Given the description of an element on the screen output the (x, y) to click on. 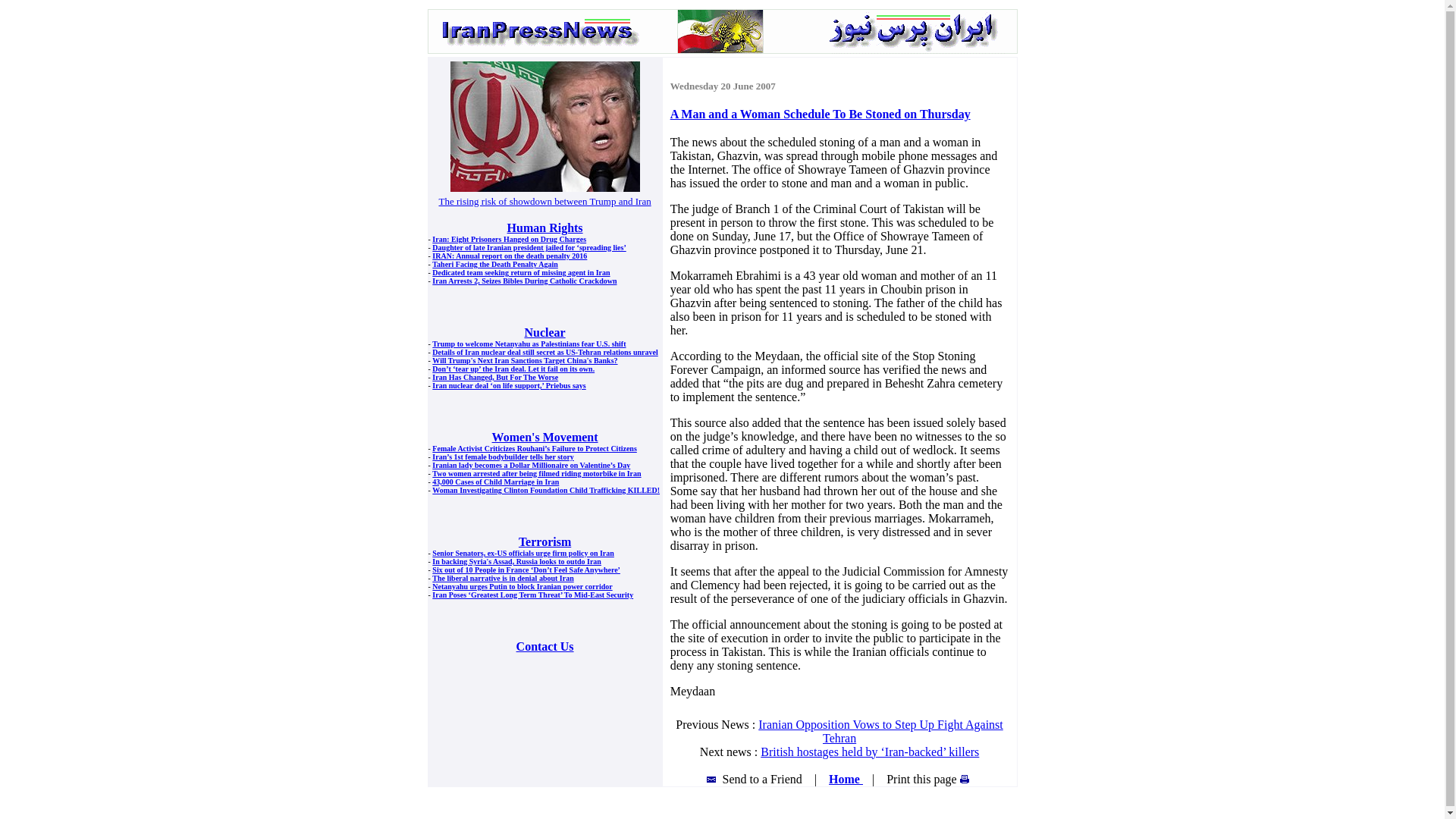
The liberal narrative is in denial about Iran (502, 578)
Nuclear (544, 332)
Send to a Friend (755, 779)
Senior Senators, ex-US officials urge firm policy on Iran (523, 552)
Iran Arrests 2, Seizes Bibles During Catholic Crackdown (523, 280)
Print this page (929, 779)
Netanyahu urges Putin to block Iranian power corridor (521, 586)
Will Trump's Next Iran Sanctions Target China's Banks? (524, 360)
